Given the description of an element on the screen output the (x, y) to click on. 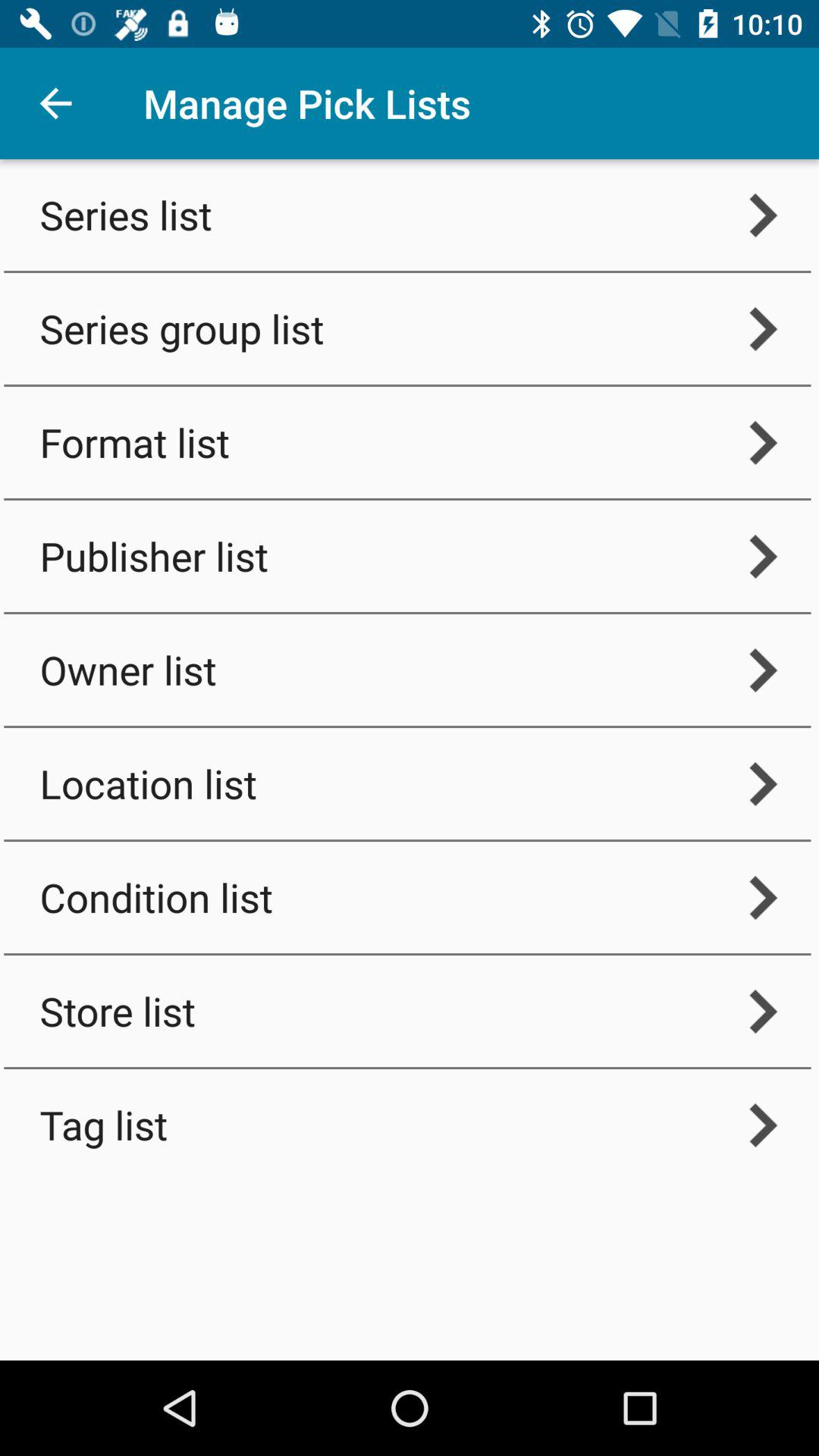
click the icon next to the manage pick lists (55, 103)
